Given the description of an element on the screen output the (x, y) to click on. 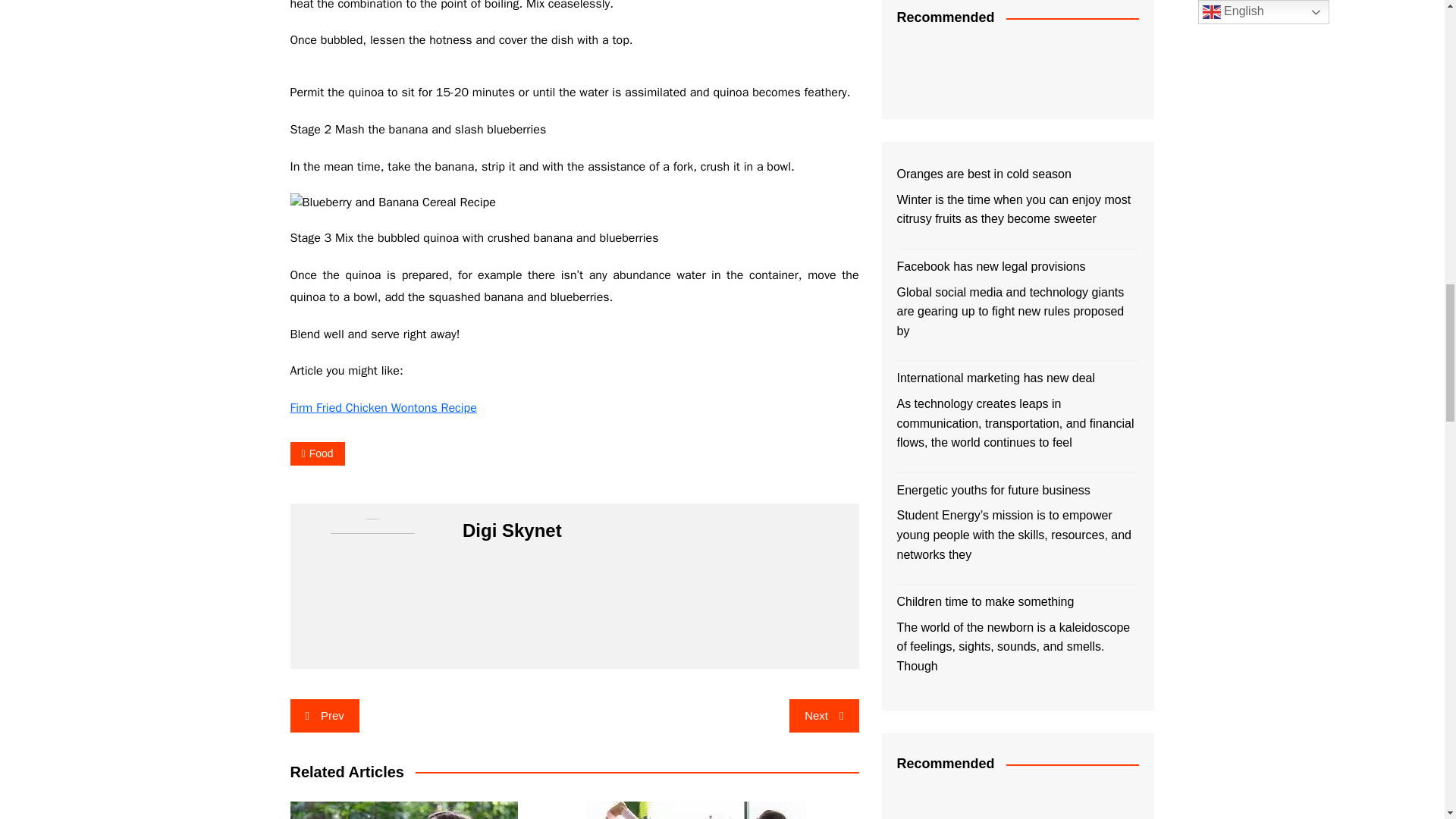
Firm Fried Chicken Wontons Recipe (382, 407)
Blueberry and Banana Cereal Recipe (392, 202)
Enjoy Cardiovascular Benefits Of Morning Walking (402, 810)
Food (316, 454)
